Given the description of an element on the screen output the (x, y) to click on. 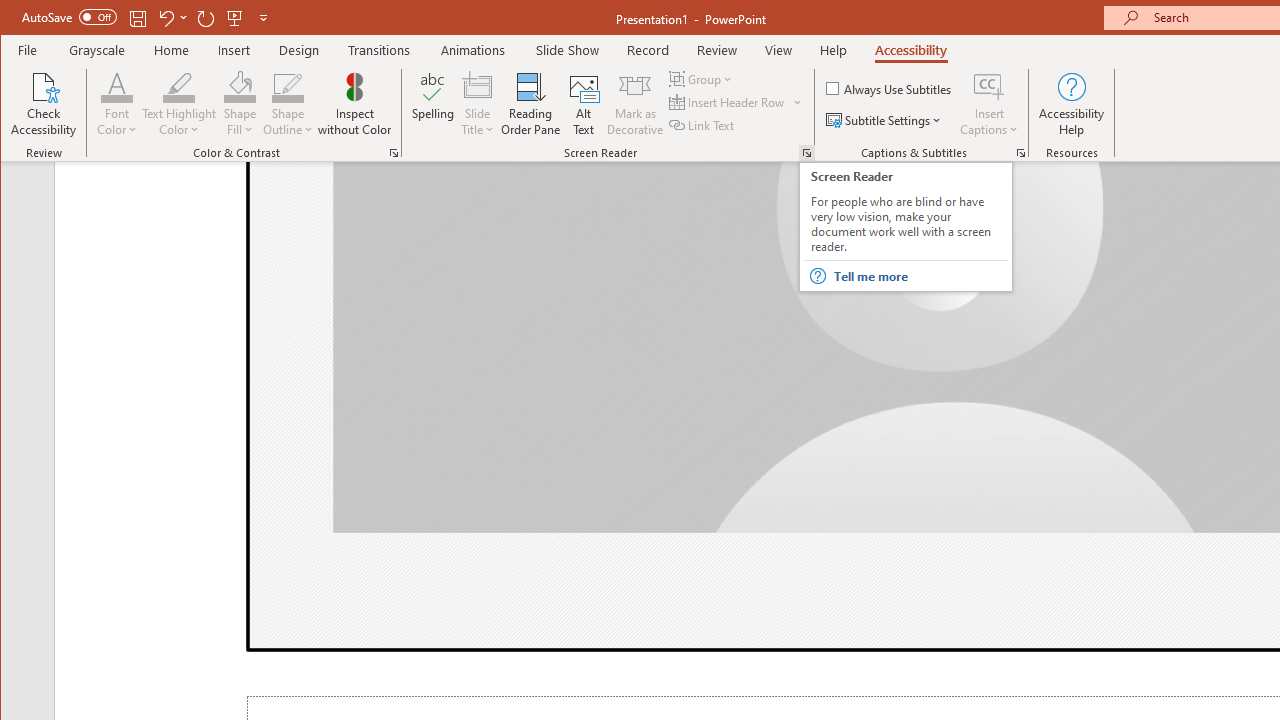
Tell me more (920, 276)
Color & Contrast (393, 152)
Grayscale (97, 50)
Link Text (703, 124)
Shape Fill Orange, Accent 2 (239, 86)
